Given the description of an element on the screen output the (x, y) to click on. 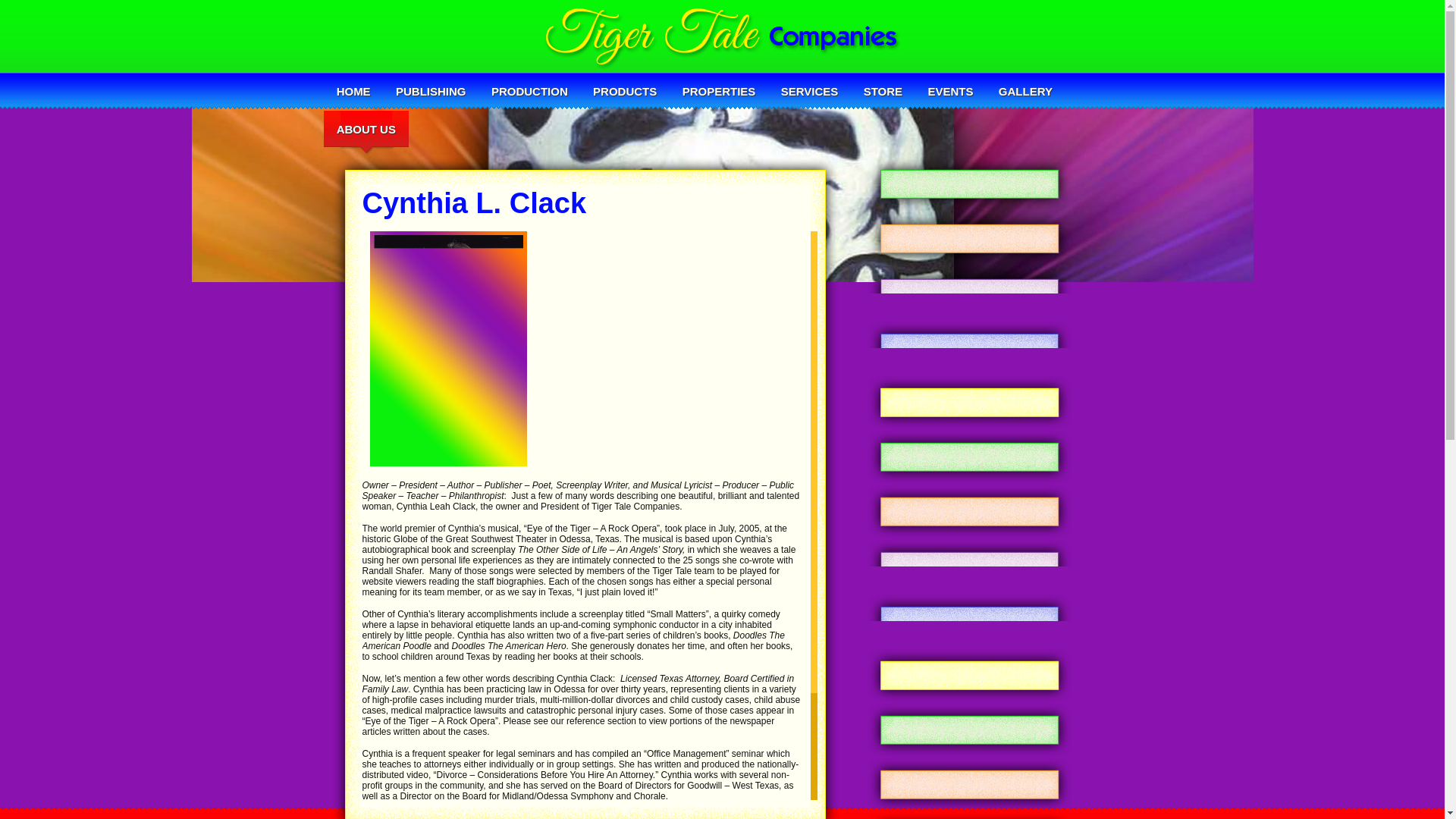
PRODUCTS (624, 91)
PROPERTIES (718, 91)
PUBLISHING (430, 91)
EVENTS (950, 91)
PRODUCTION (529, 91)
GALLERY (1025, 91)
HOME (352, 91)
STORE (882, 91)
SERVICES (809, 91)
